Given the description of an element on the screen output the (x, y) to click on. 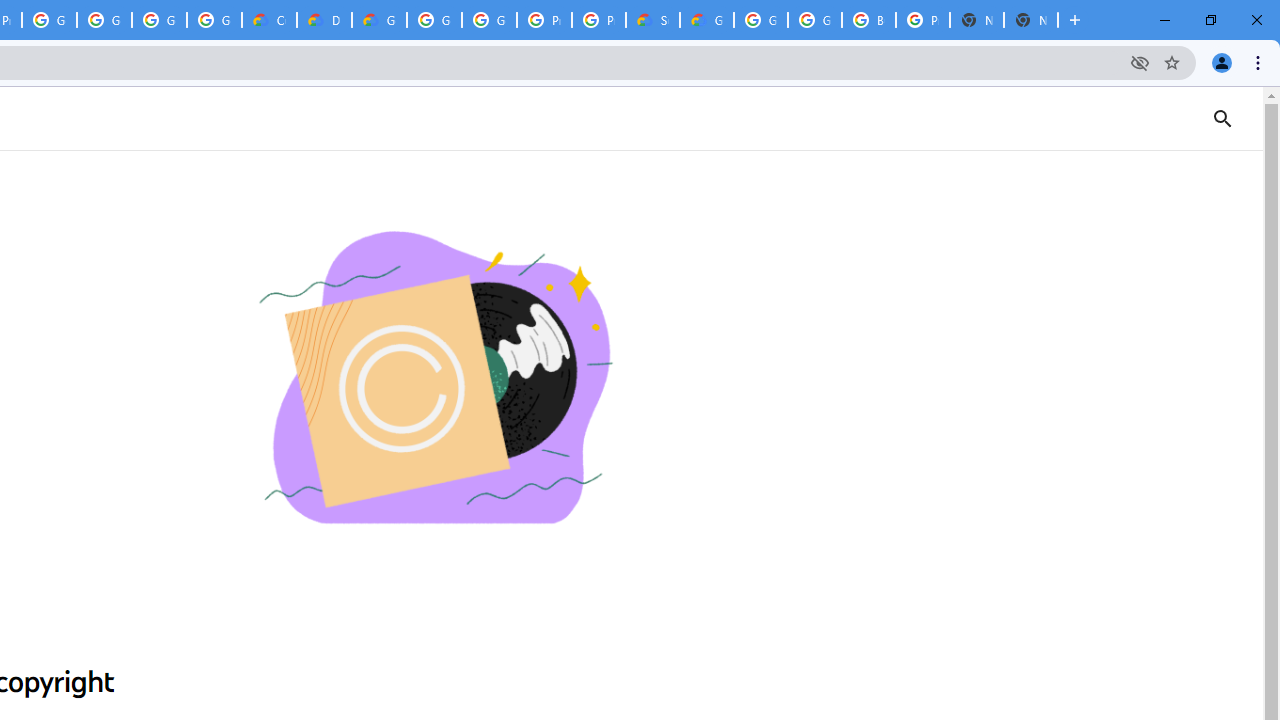
You (1221, 62)
Restore (1210, 20)
New Tab (1075, 20)
Gemini for Business and Developers | Google Cloud (379, 20)
Google Workspace - Specific Terms (158, 20)
Google Workspace - Specific Terms (213, 20)
Google Cloud Service Health (706, 20)
Customer Care | Google Cloud (268, 20)
Copyright (433, 380)
Support Hub | Google Cloud (652, 20)
